Given the description of an element on the screen output the (x, y) to click on. 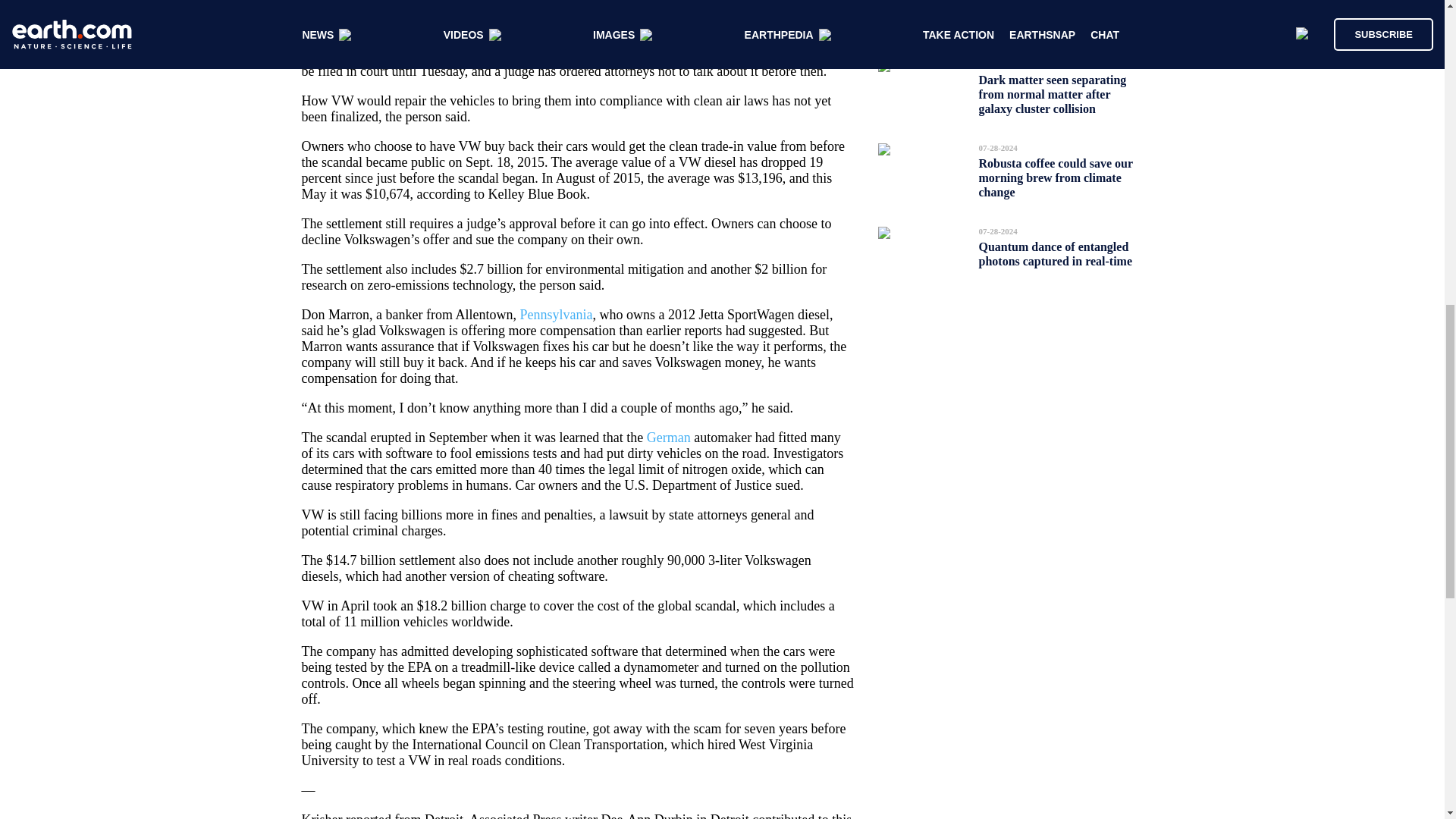
German (668, 437)
Cicada wings inspire new antibacterial technologies (1044, 12)
Quantum dance of entangled photons captured in real-time (1055, 253)
Pennsylvania (555, 314)
